Given the description of an element on the screen output the (x, y) to click on. 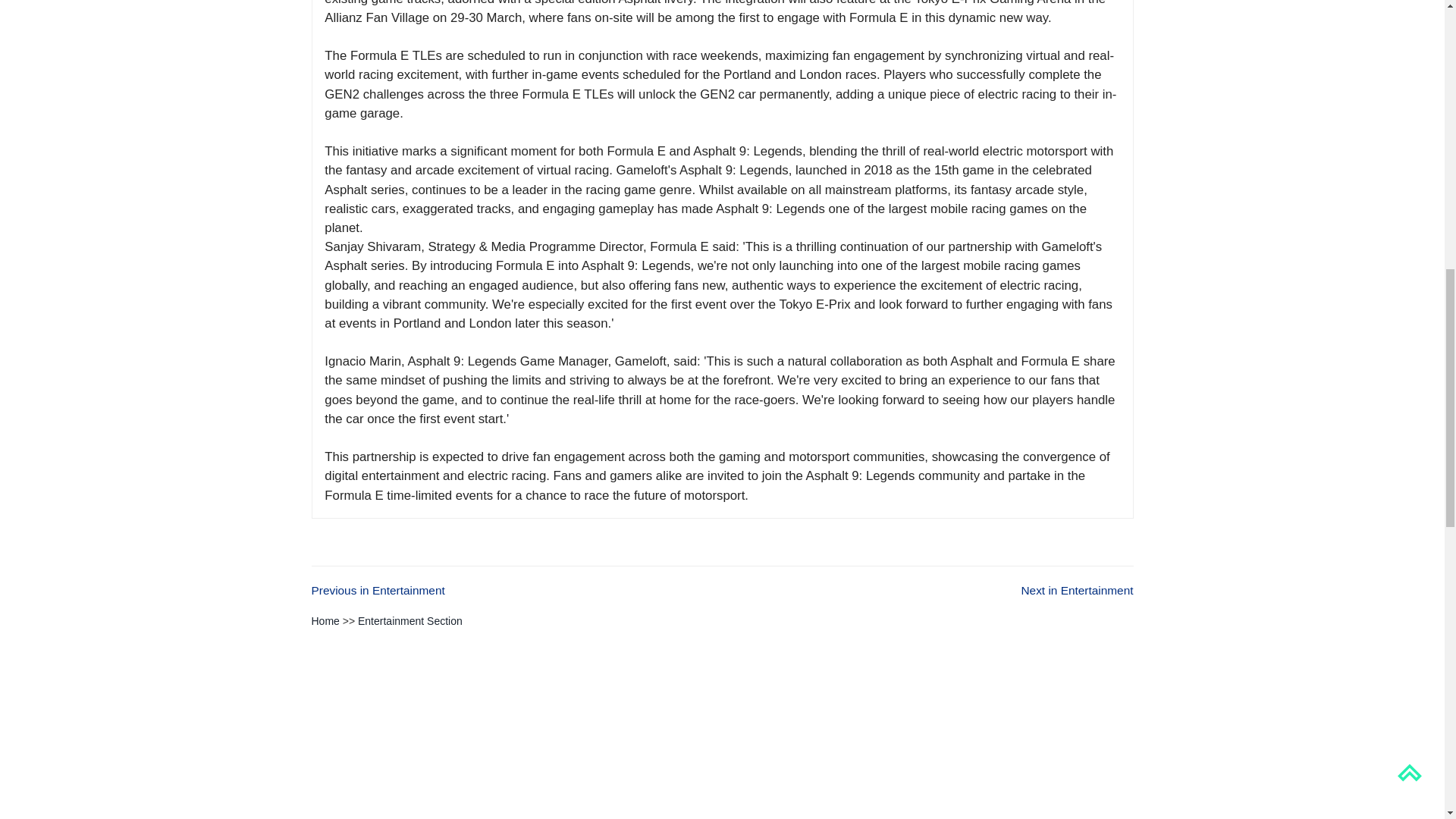
Home (325, 621)
Previous in Entertainment (377, 590)
Next in Entertainment (1076, 590)
Entertainment Section (410, 621)
